Given the description of an element on the screen output the (x, y) to click on. 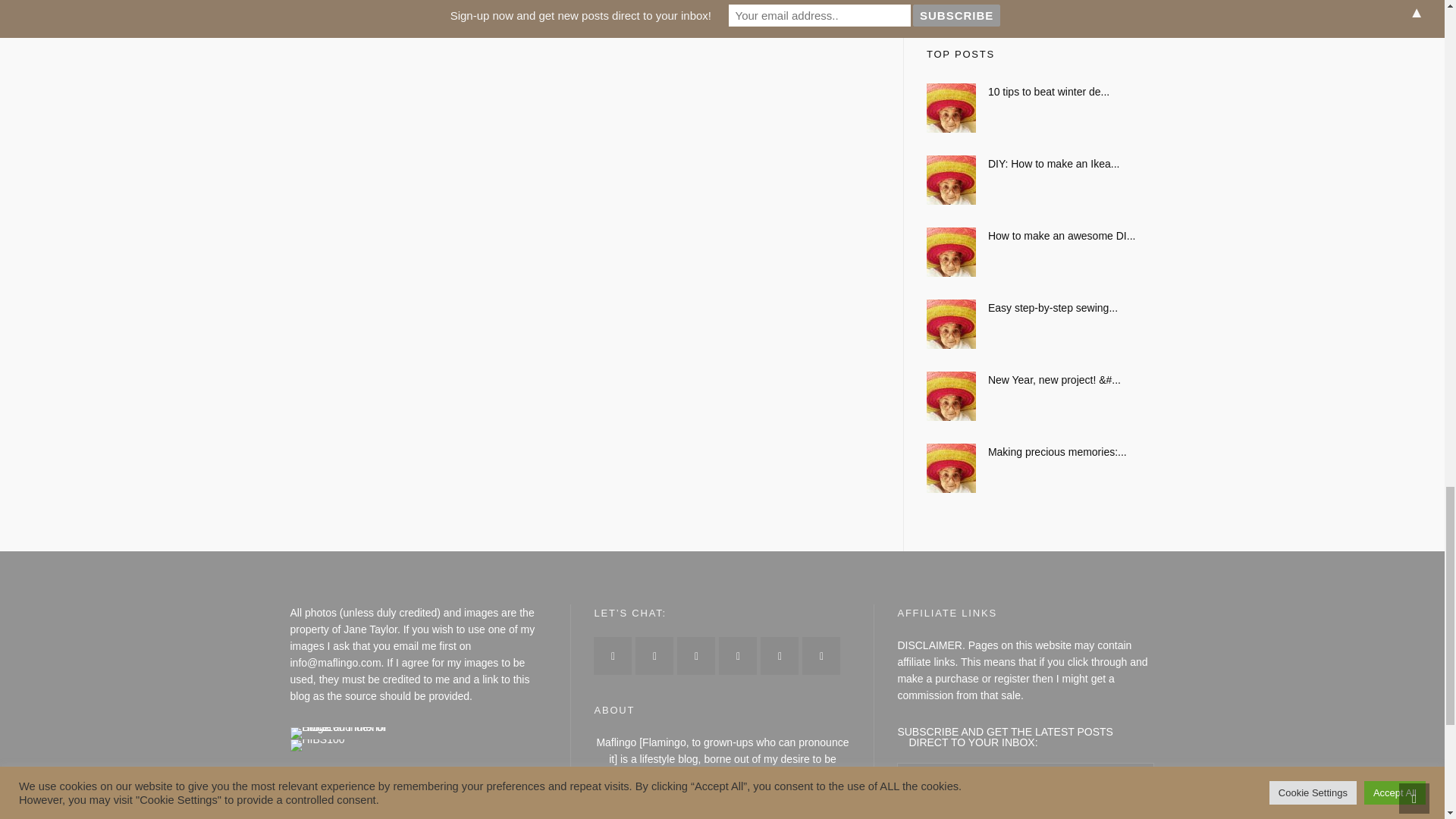
Can you afford to keep your savings in cash? (1040, 4)
DIY: How to make an Ikea... (1040, 163)
HIBS100 Index of Home and Interior Blogs (351, 732)
Subscribe (938, 816)
Easy step-by-step sewing tutorial: How to make a snap purse. (1040, 307)
Making precious memories: How to make a cushion using ties. (1040, 451)
10 tips to beat winter de... (1040, 91)
